Given the description of an element on the screen output the (x, y) to click on. 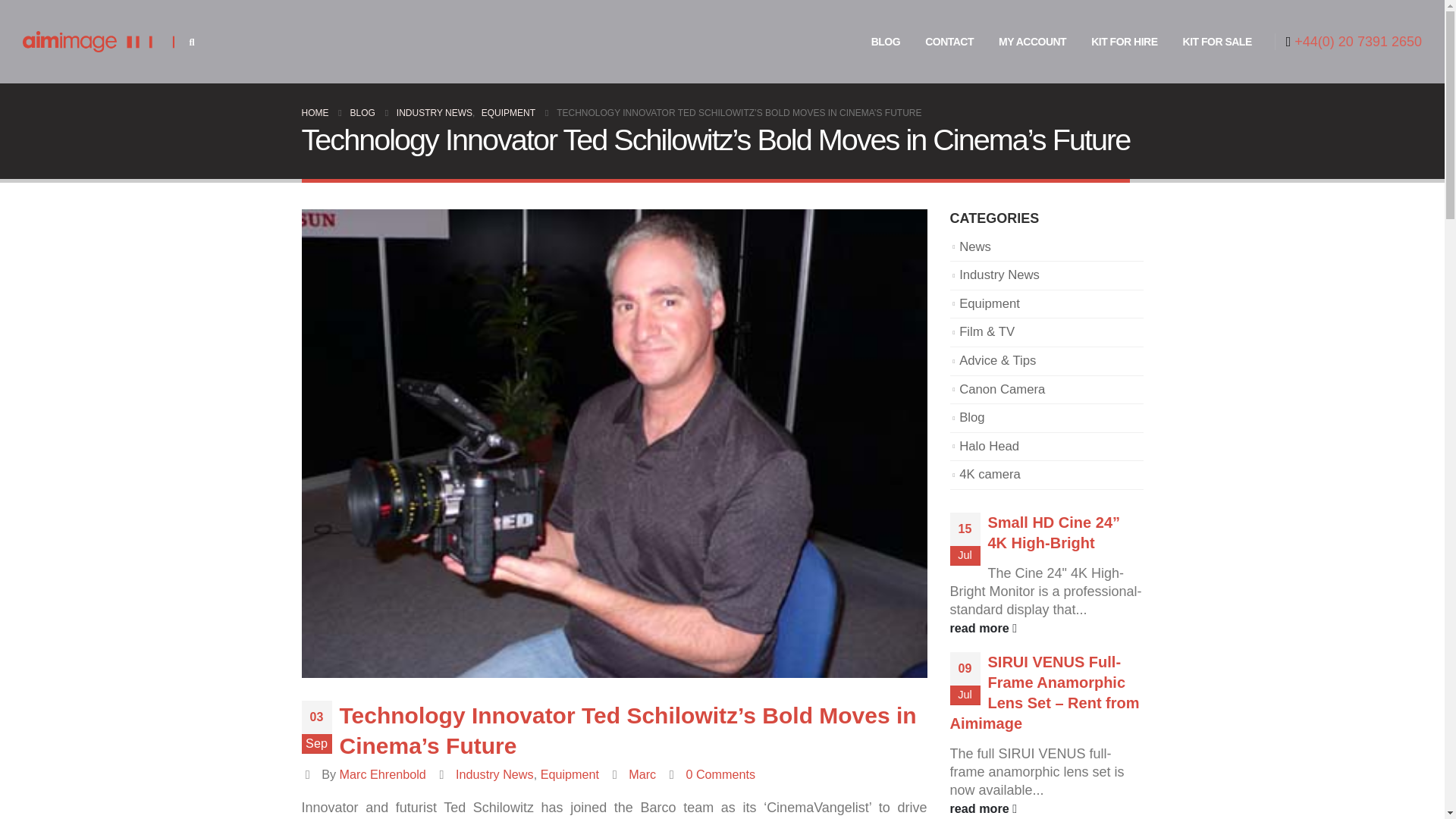
BLOG (362, 113)
Equipment (569, 774)
Marc Ehrenbold (382, 774)
EQUIPMENT (508, 113)
KIT FOR HIRE (1123, 41)
0 Comments (720, 774)
Industry News (494, 774)
INDUSTRY NEWS (433, 113)
BLOG (885, 41)
HOME (315, 113)
